Given the description of an element on the screen output the (x, y) to click on. 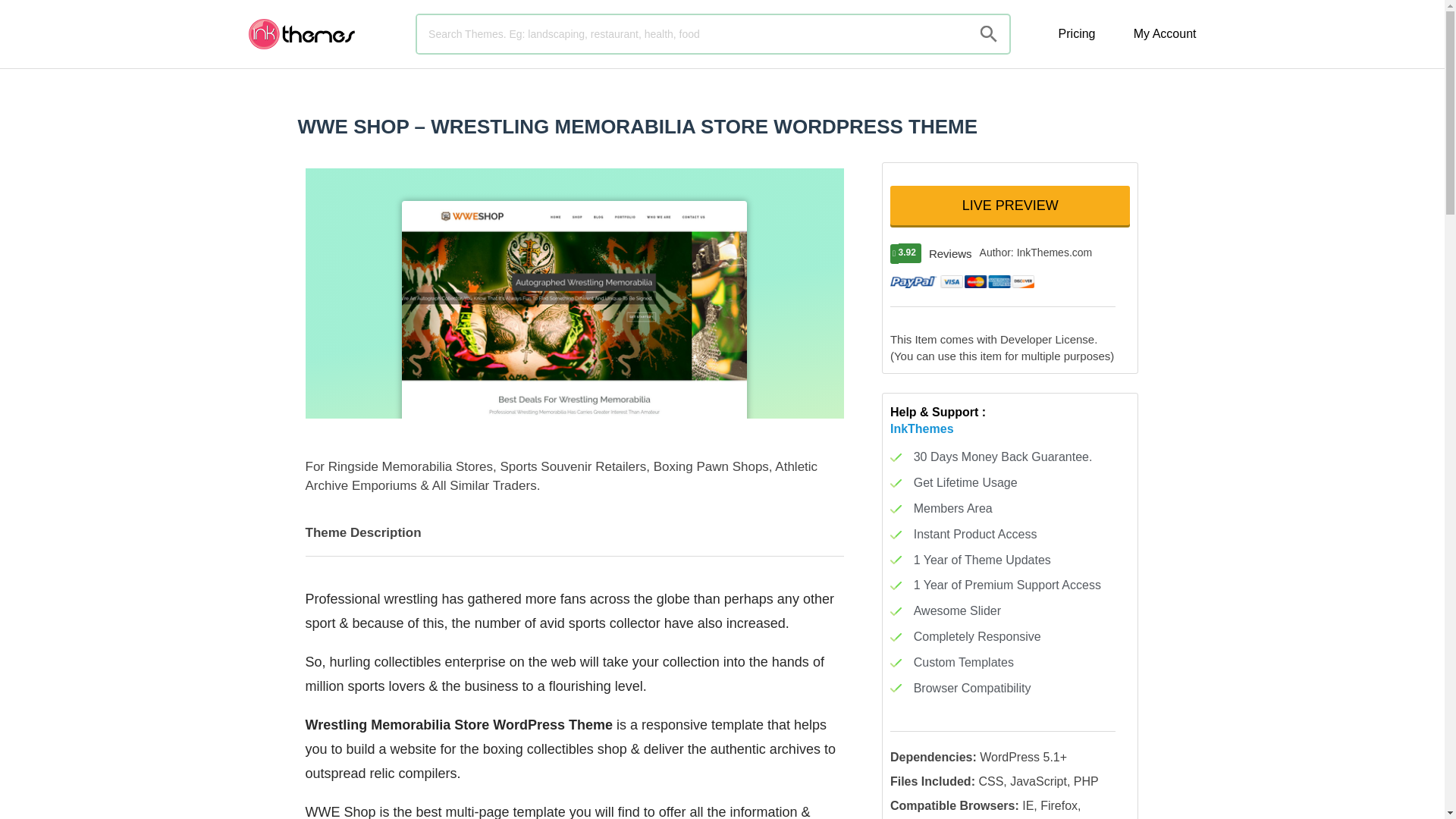
Pricing (1077, 33)
My Account (1165, 33)
LIVE PREVIEW (1009, 205)
